Given the description of an element on the screen output the (x, y) to click on. 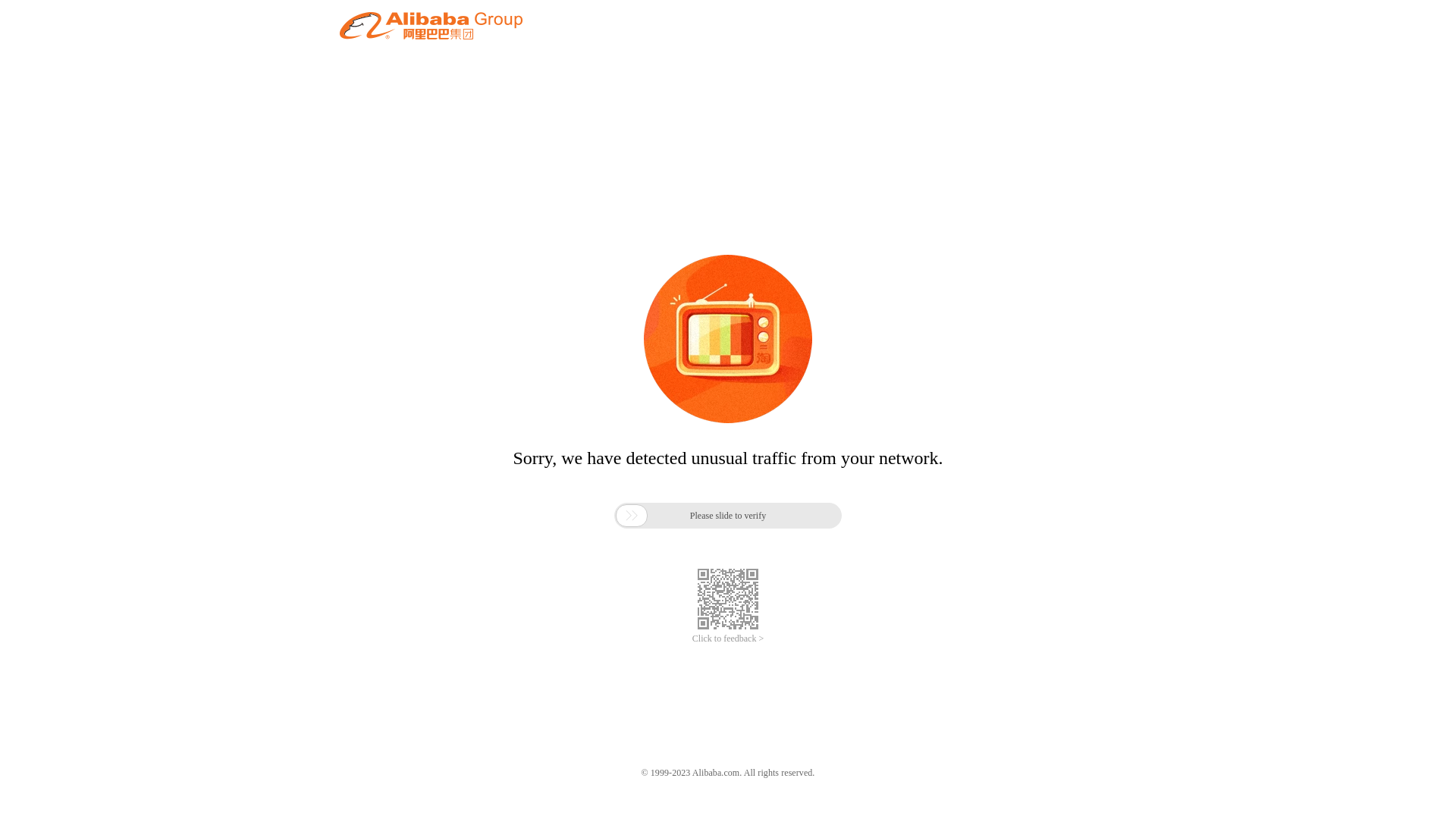
Click to feedback > Element type: text (727, 638)
